Given the description of an element on the screen output the (x, y) to click on. 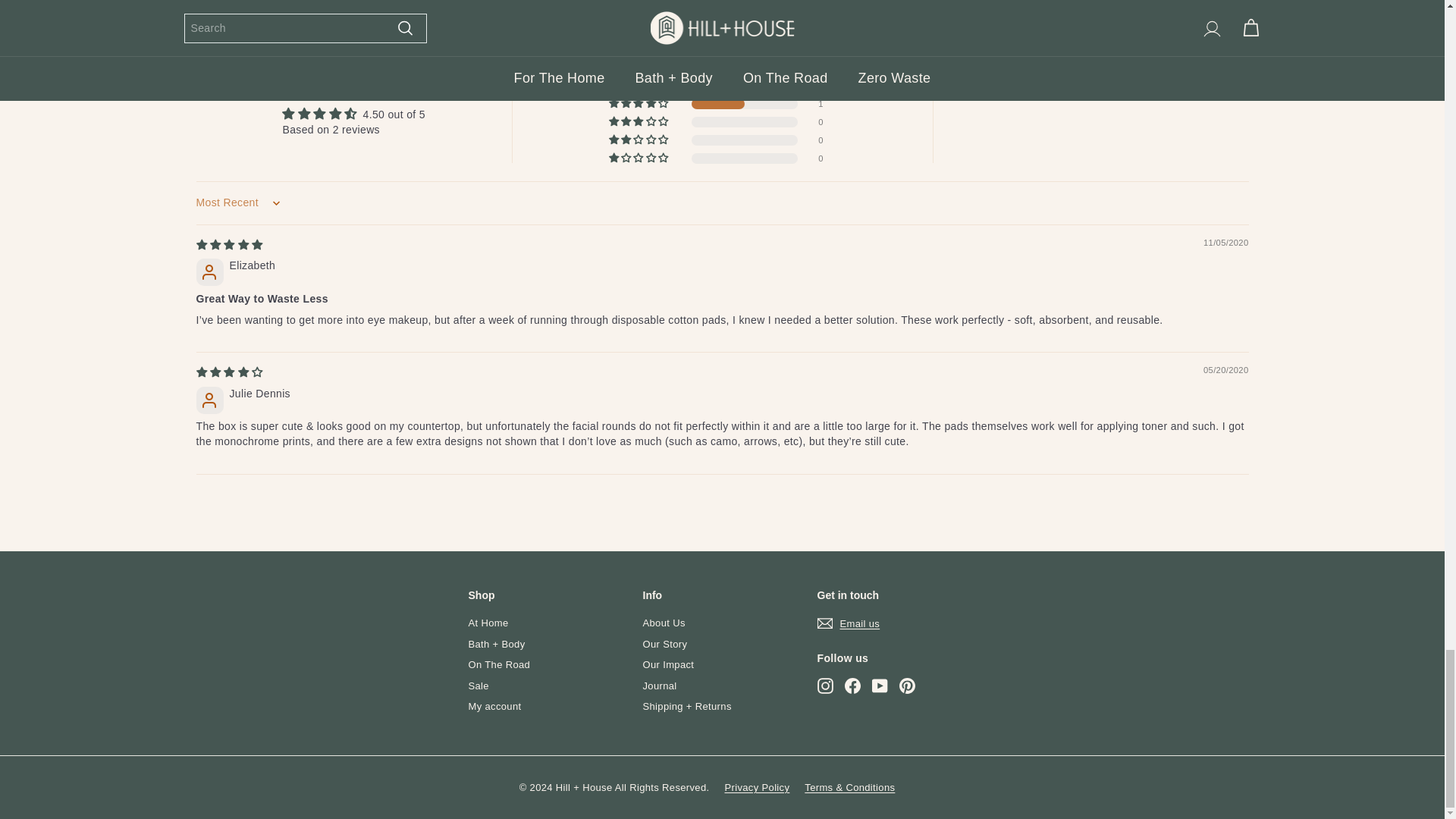
instagram (824, 685)
